Given the description of an element on the screen output the (x, y) to click on. 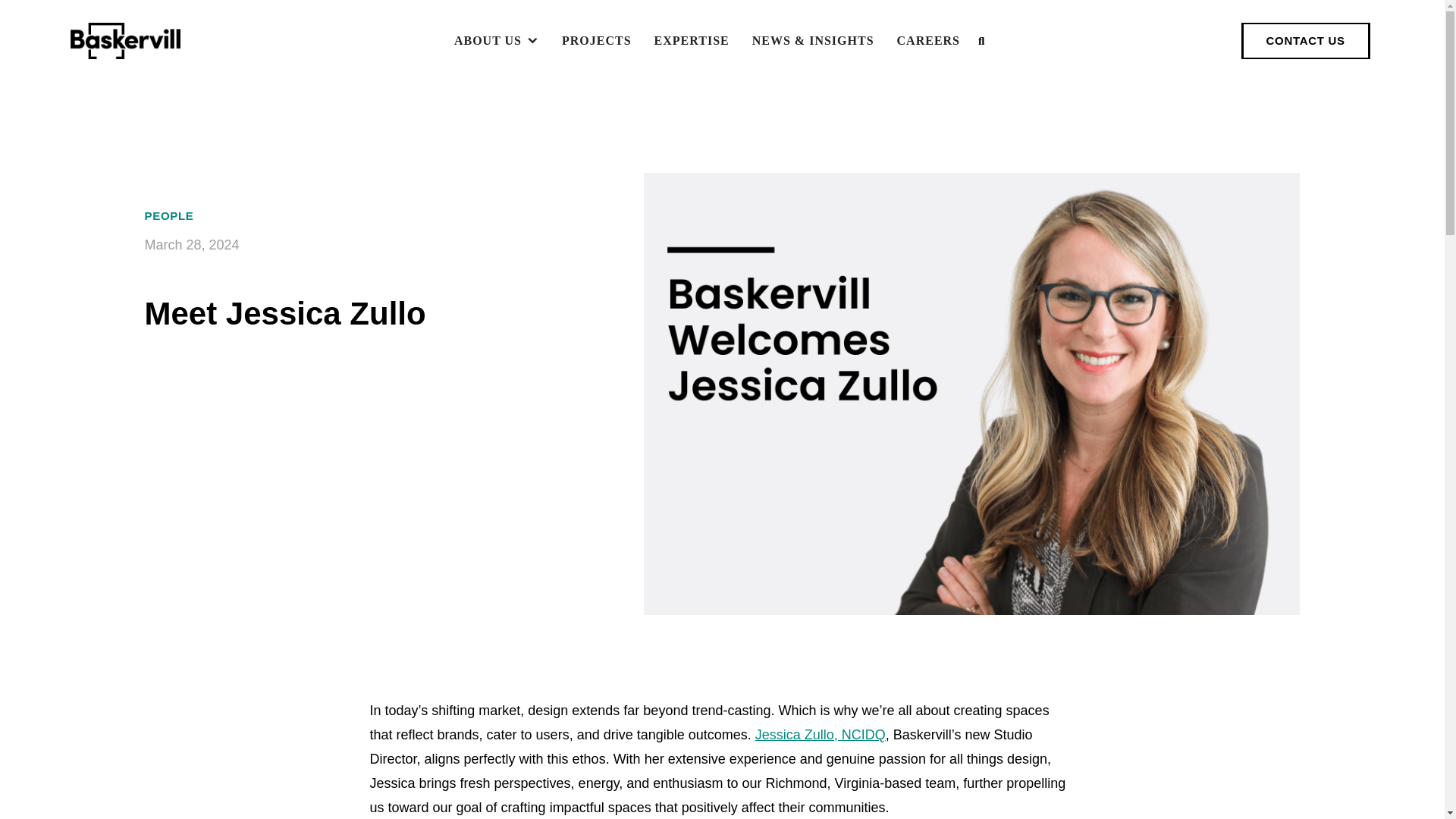
ABOUT US (496, 40)
Jessica Zullo, NCIDQ (820, 734)
CONTACT US (1305, 40)
EXPERTISE (691, 40)
PEOPLE (168, 216)
CAREERS (928, 40)
PROJECTS (596, 40)
